Given the description of an element on the screen output the (x, y) to click on. 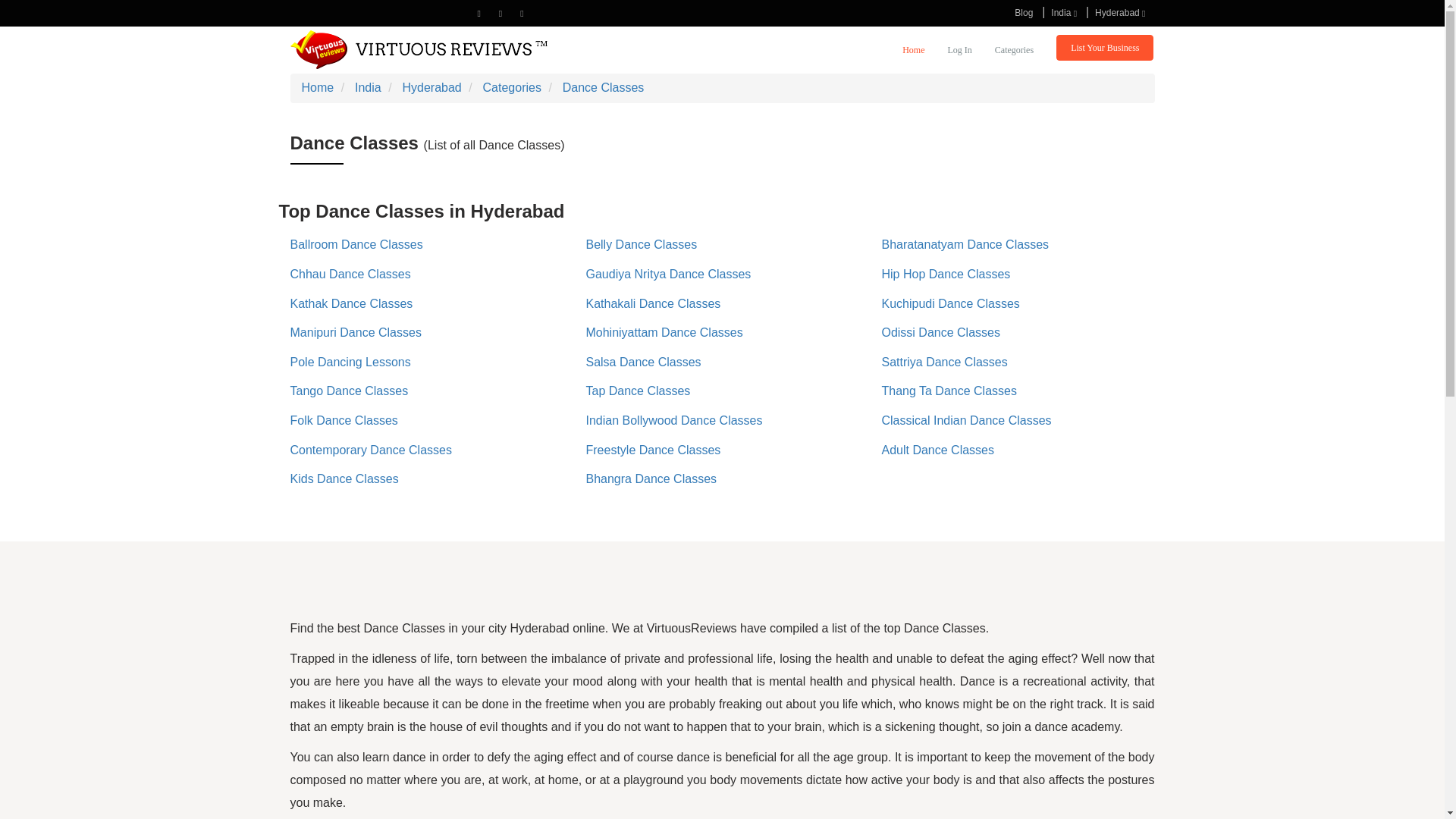
Blog (1024, 12)
Hyderabad (1120, 12)
The Official Virtuous Reviews Blog (1024, 12)
India (1064, 12)
Virtuous Reviews (418, 49)
Categories (1013, 51)
select city (1120, 12)
